Given the description of an element on the screen output the (x, y) to click on. 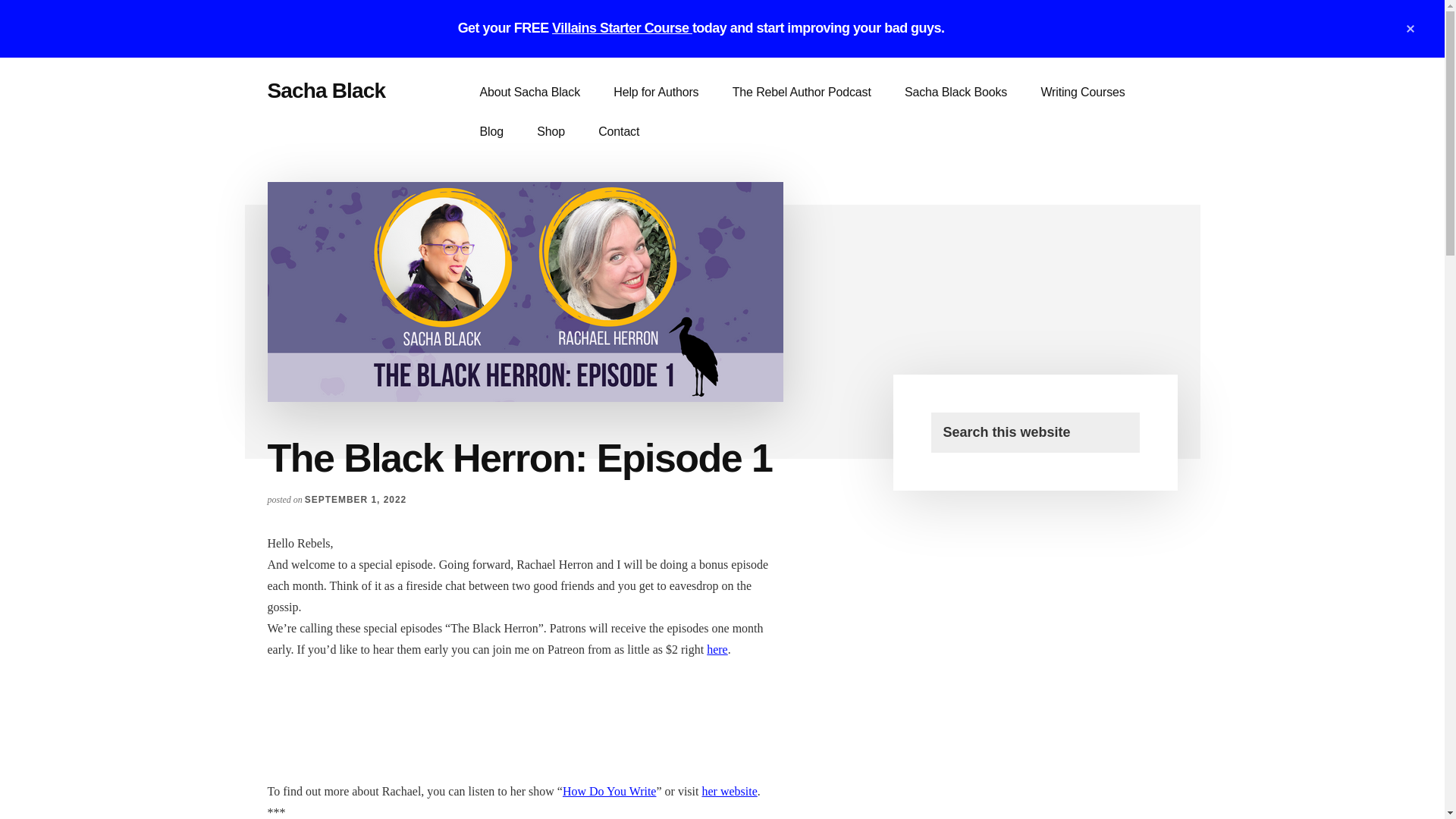
Villains Starter Course (622, 28)
Sacha Black Books (955, 92)
The Black Herron: Episode 1 (524, 716)
About Sacha Black (529, 92)
here (717, 649)
Writing Courses (1082, 92)
her website (729, 790)
Sacha Black (325, 90)
How Do You Write (609, 790)
Blog (491, 131)
